Given the description of an element on the screen output the (x, y) to click on. 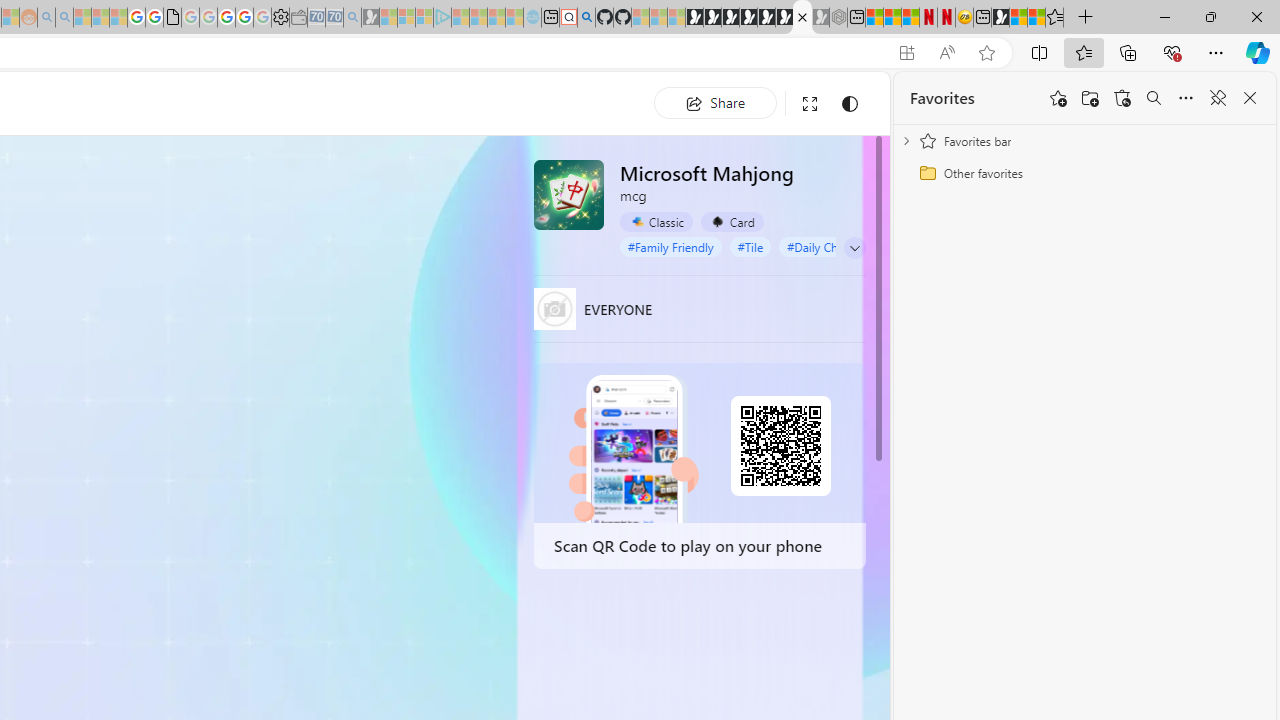
Classic (656, 222)
Restore deleted favorites (1122, 98)
Add folder (1089, 98)
Full screen (810, 103)
Class: control (855, 248)
